Given the description of an element on the screen output the (x, y) to click on. 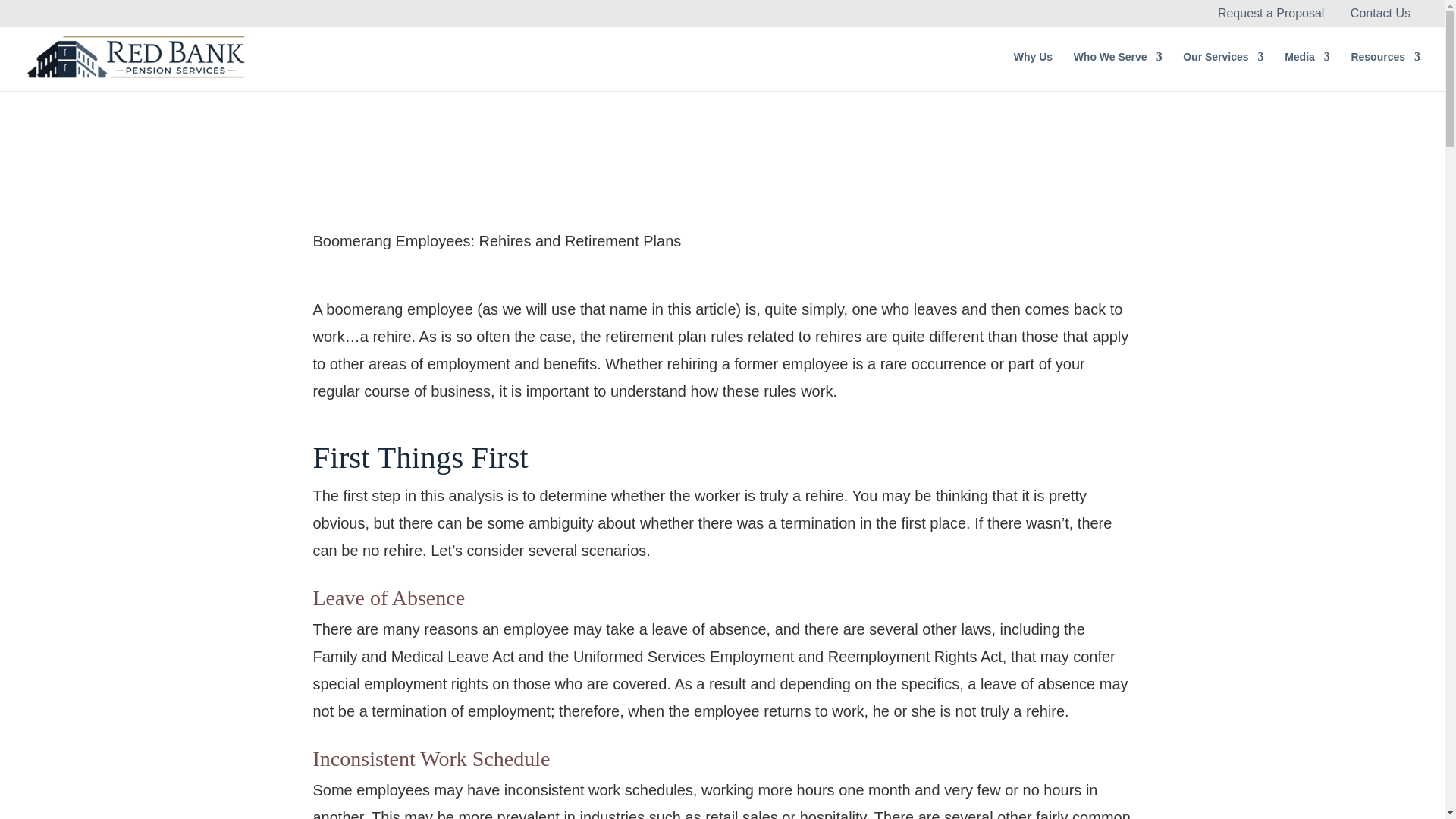
Request a Proposal (1271, 13)
Our Services (1222, 70)
Resources (1386, 70)
Who We Serve (1117, 70)
Media (1307, 70)
Contact Us (1380, 13)
Why Us (1032, 70)
